Given the description of an element on the screen output the (x, y) to click on. 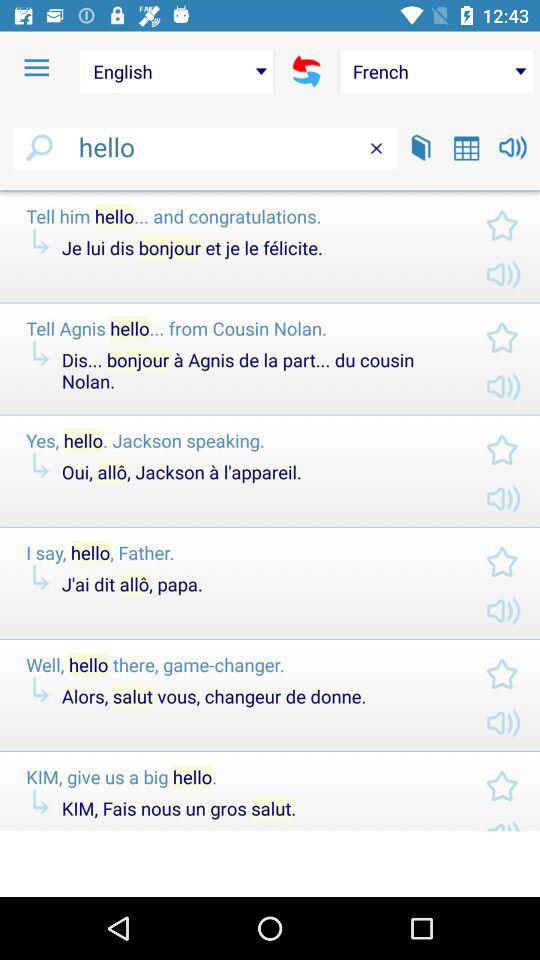
swap language selections (306, 71)
